Given the description of an element on the screen output the (x, y) to click on. 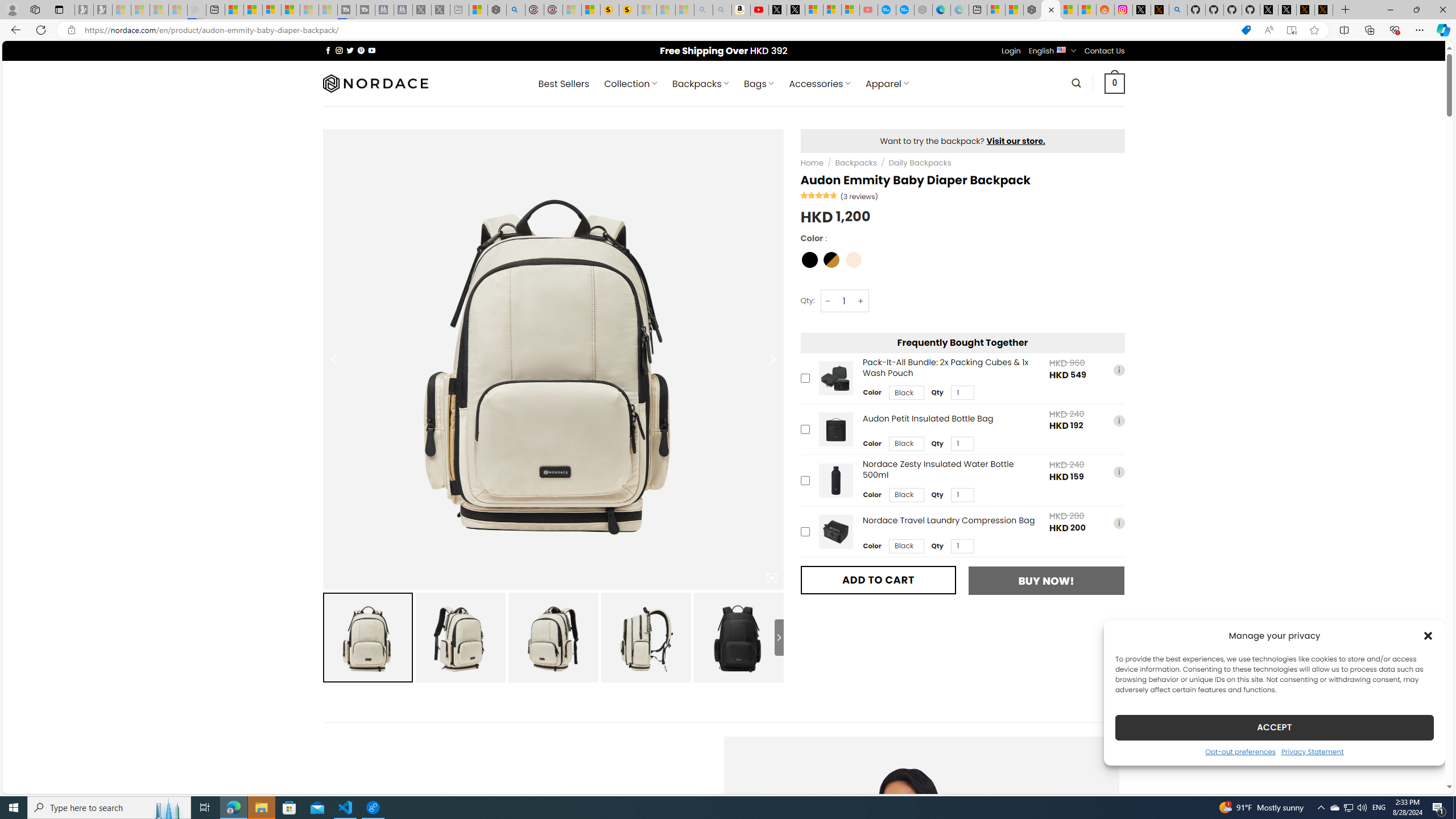
Rated 4.67 out of 5 (819, 194)
help.x.com | 524: A timeout occurred (1159, 9)
Daily Backpacks (920, 162)
Follow on Pinterest (360, 49)
Audon Emmity Baby Diaper Backpack (738, 637)
